Given the description of an element on the screen output the (x, y) to click on. 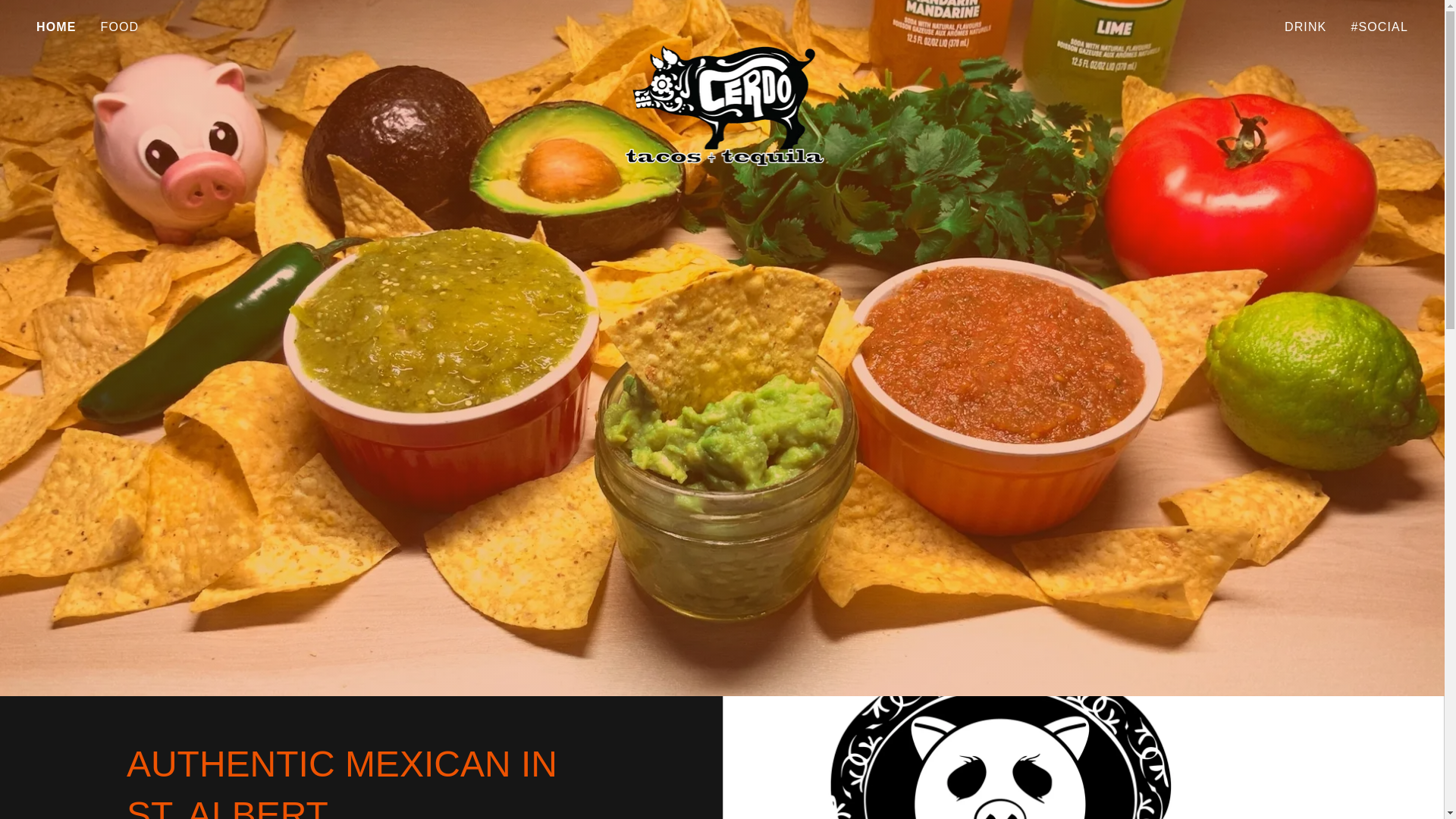
HOME (56, 27)
DRINK (1304, 26)
FOOD (120, 26)
